Given the description of an element on the screen output the (x, y) to click on. 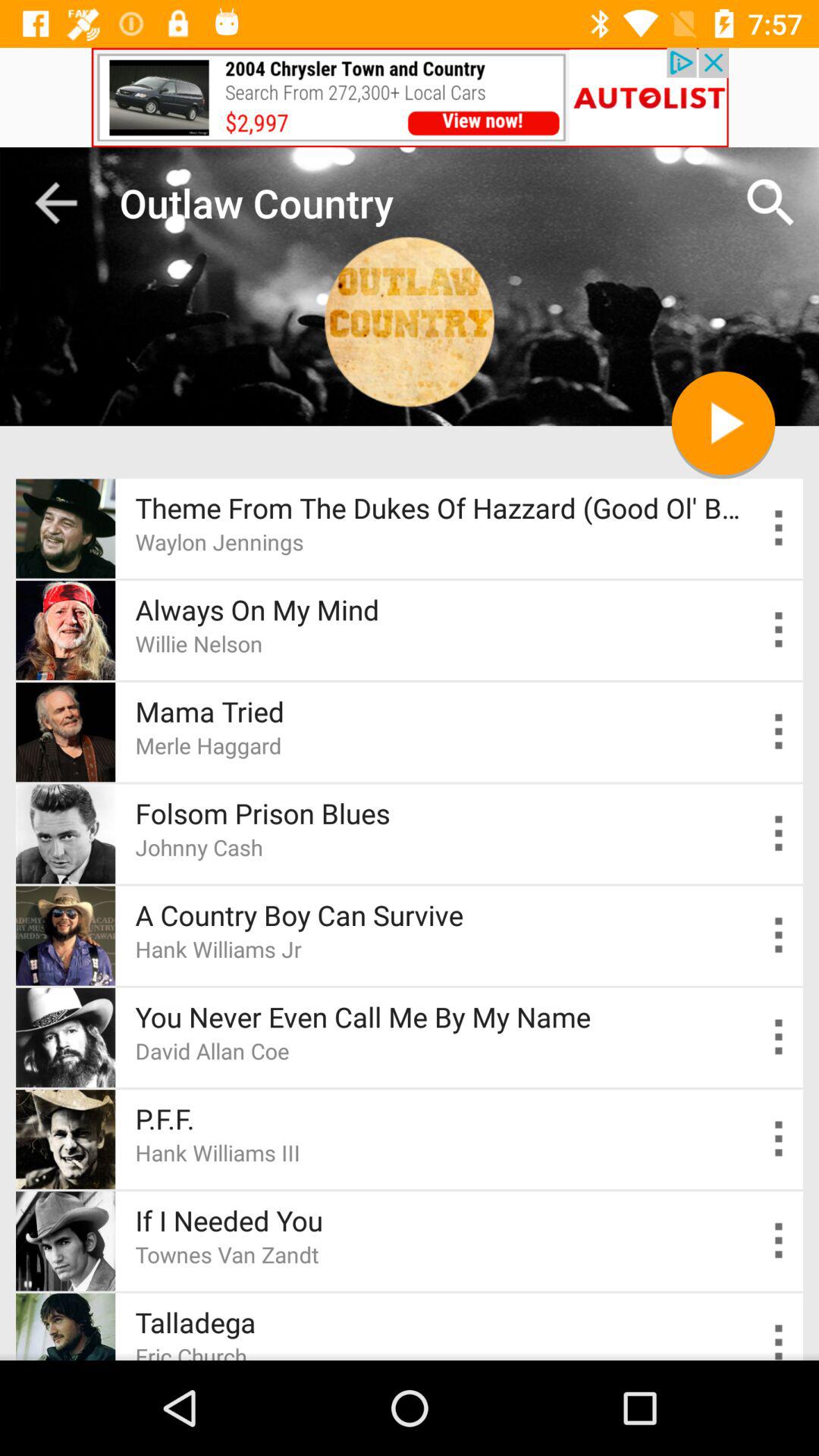
more options (779, 1139)
